Given the description of an element on the screen output the (x, y) to click on. 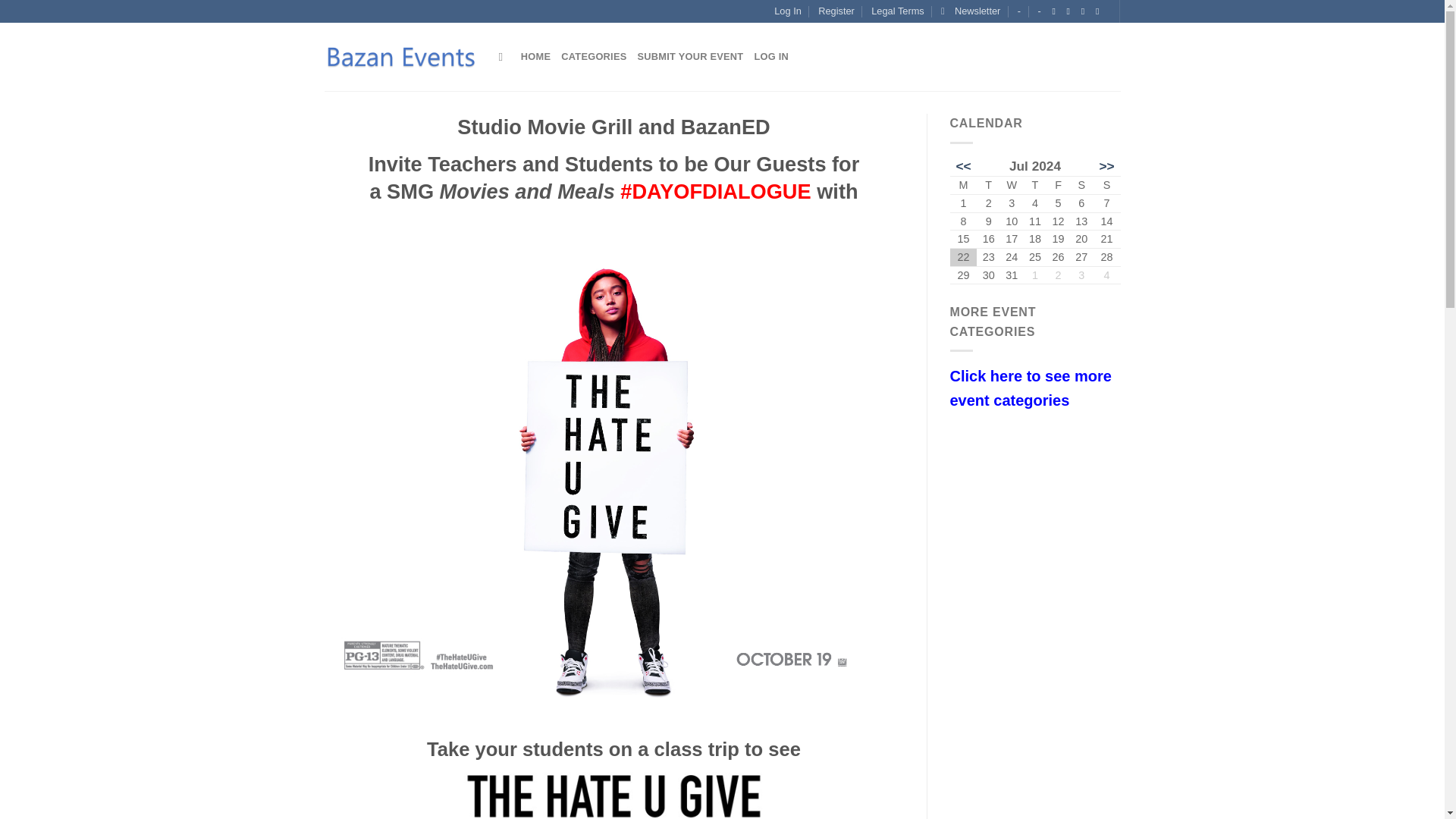
Newsletter (970, 11)
SUBMIT YOUR EVENT (690, 56)
Register (836, 11)
Click here to see more event categories (1034, 387)
Log In (788, 11)
HOME (535, 56)
Legal Terms (896, 11)
Sign up for our Newsletter (970, 11)
Bazan Events (400, 56)
LOG IN (771, 56)
CATEGORIES (593, 56)
